Given the description of an element on the screen output the (x, y) to click on. 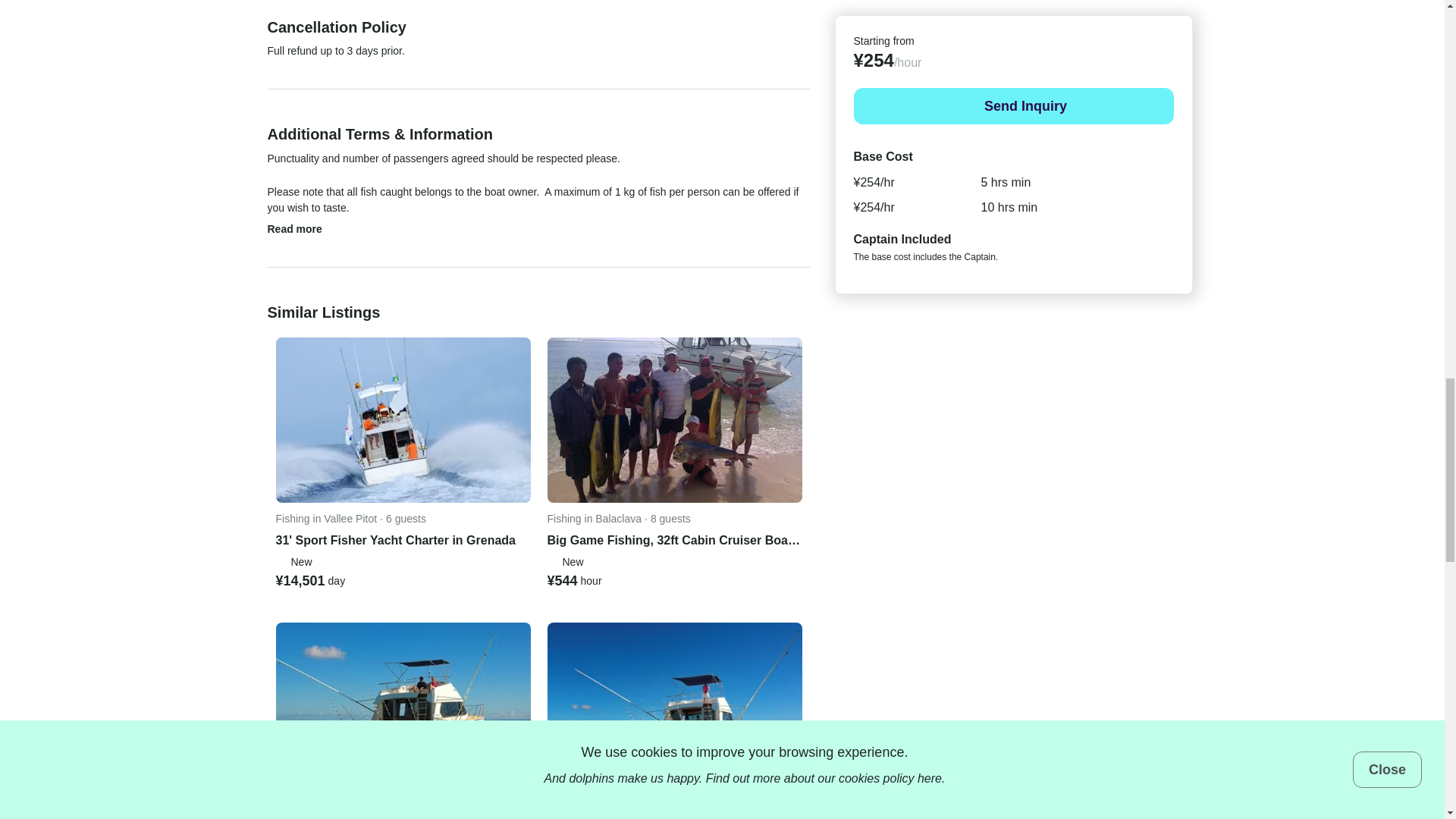
Read more (304, 228)
